Given the description of an element on the screen output the (x, y) to click on. 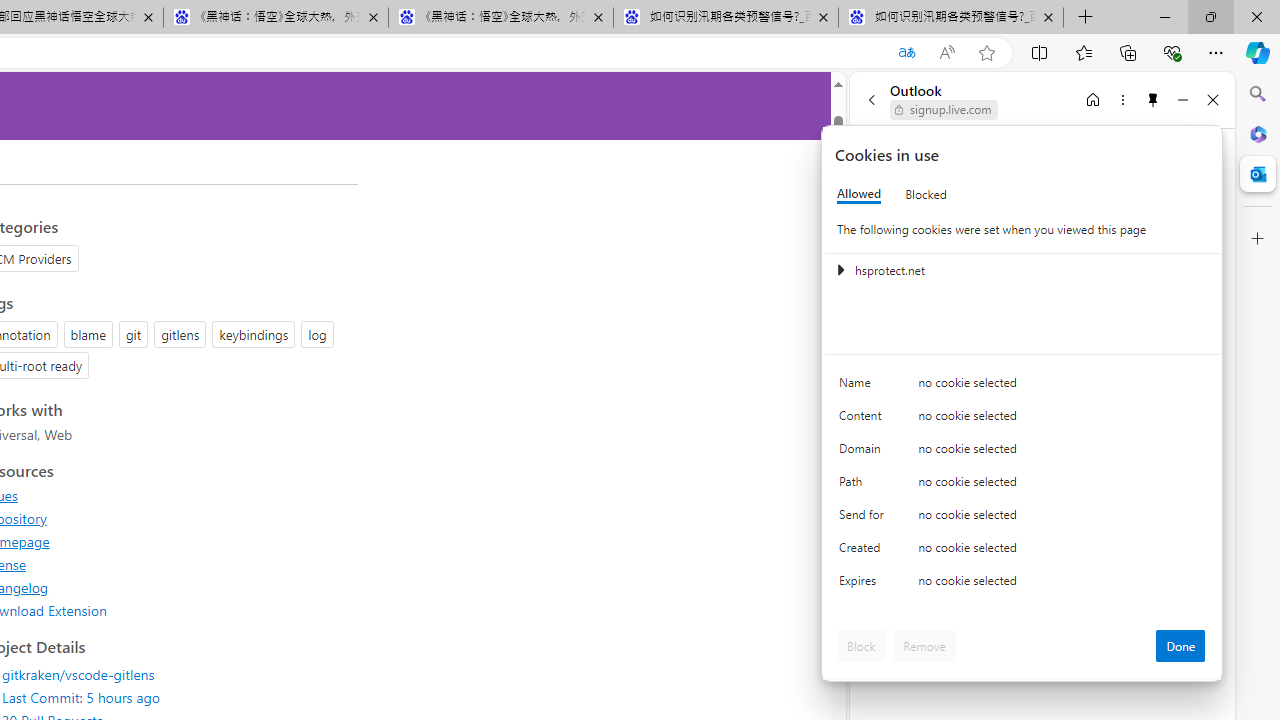
Content (864, 420)
no cookie selected (1062, 585)
Created (864, 552)
Block (861, 645)
Blocked (925, 193)
Expires (864, 585)
Done (1179, 645)
Allowed (859, 193)
Remove (924, 645)
Name (864, 387)
Class: c0153 c0157 c0154 (1023, 386)
Path (864, 485)
Class: c0153 c0157 (1023, 584)
Send for (864, 518)
Domain (864, 452)
